Given the description of an element on the screen output the (x, y) to click on. 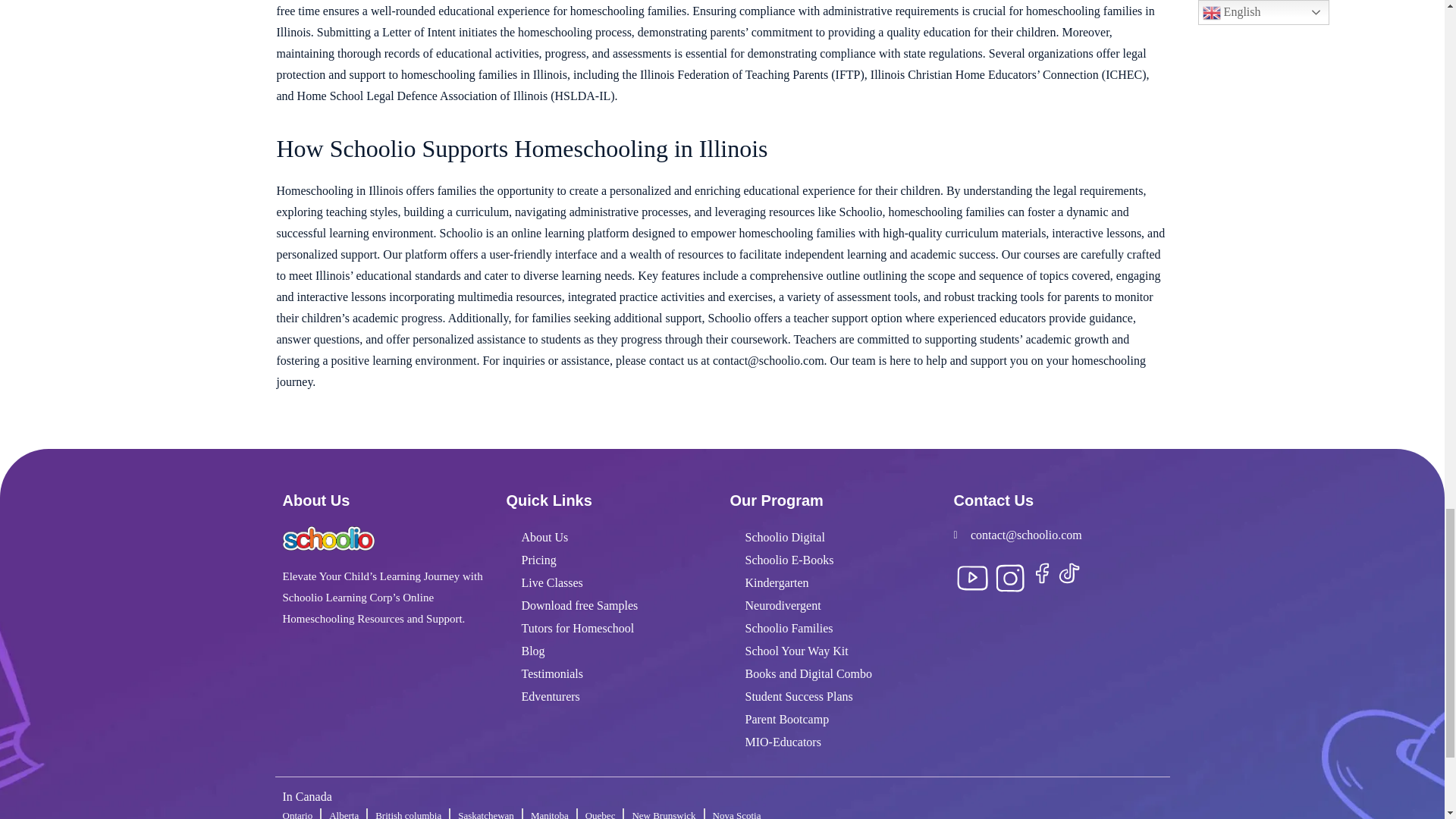
Tutors for Homeschool (610, 628)
About Us (610, 537)
Download free Samples (610, 605)
Blog (610, 650)
Testimonials (610, 673)
Pricing (610, 559)
Edventurers (610, 696)
Live Classes (610, 582)
